Given the description of an element on the screen output the (x, y) to click on. 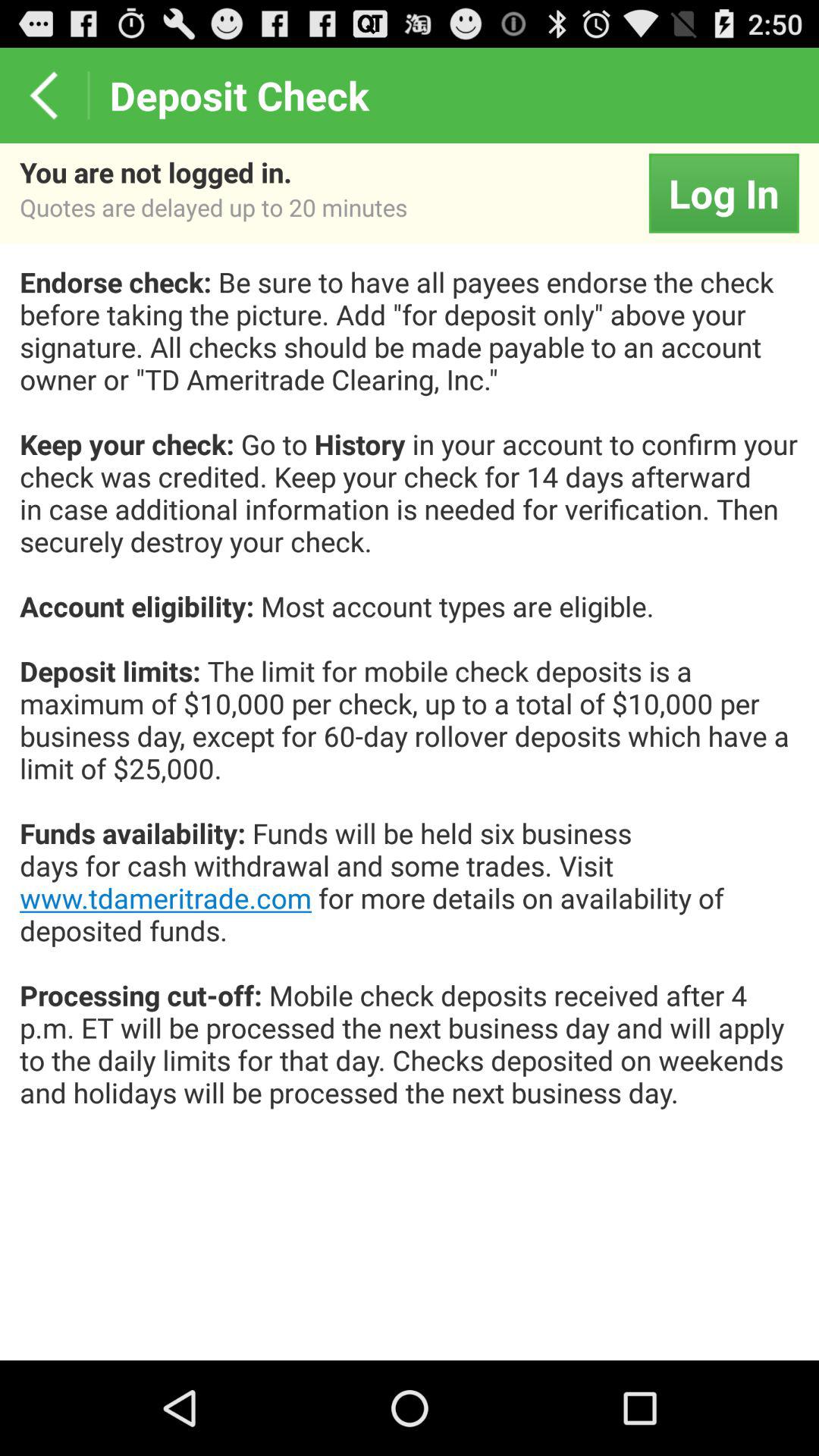
select item above the you are not app (43, 95)
